Given the description of an element on the screen output the (x, y) to click on. 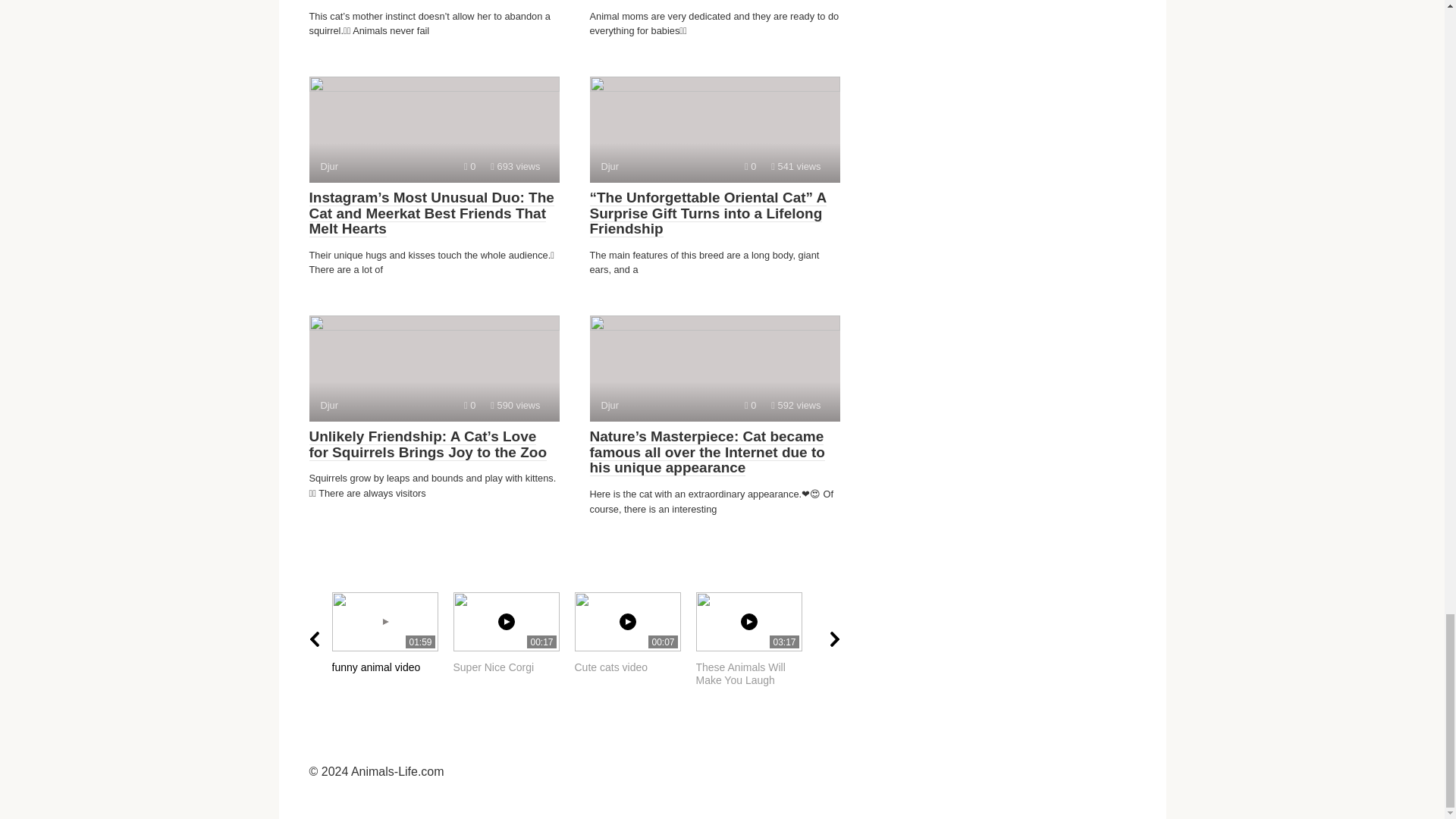
Views (755, 639)
Views (515, 405)
Views (796, 405)
Comments (433, 368)
Comments (796, 165)
Comments (749, 405)
Views (714, 129)
Comments (470, 405)
